Given the description of an element on the screen output the (x, y) to click on. 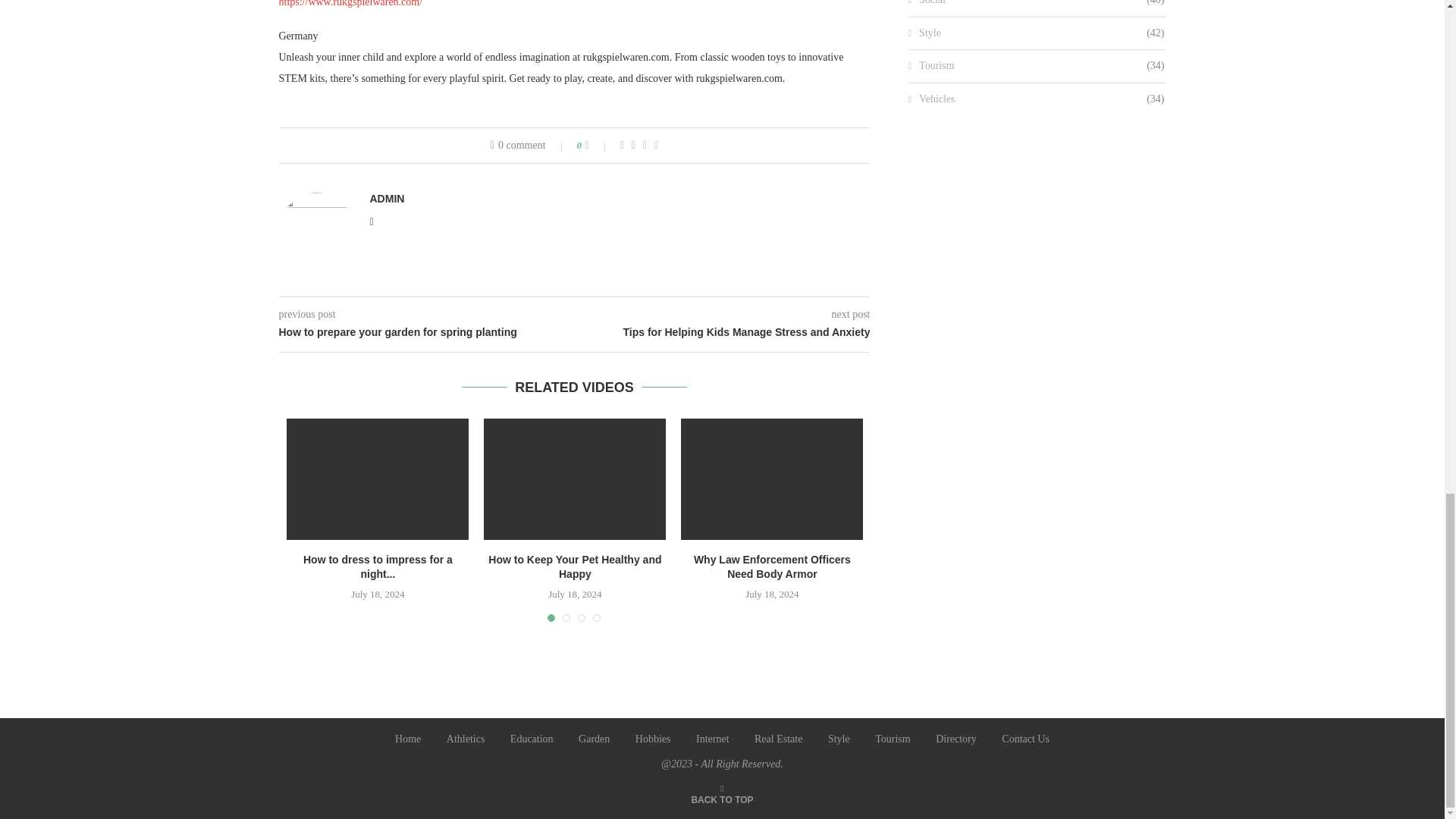
Why Law Enforcement Officers Need Body Armor (772, 478)
Author admin (386, 198)
How to Keep Your Pet Healthy and Happy (574, 478)
Like (597, 145)
How to dress to impress for a night out in the city (377, 478)
